Given the description of an element on the screen output the (x, y) to click on. 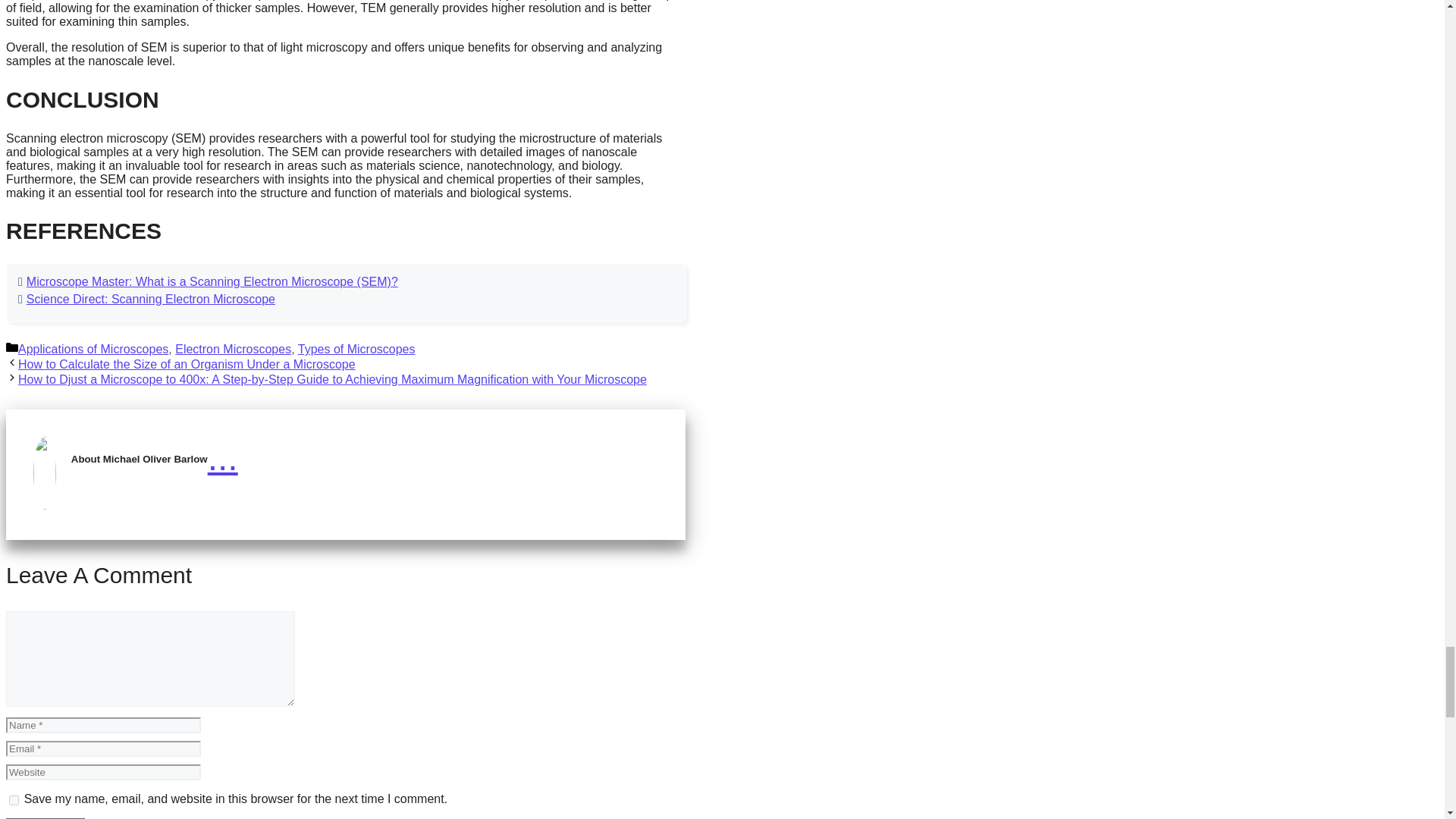
Science Direct: Scanning Electron Microscope (150, 298)
Read more (223, 457)
yes (13, 800)
Applications of Microscopes (92, 349)
